Given the description of an element on the screen output the (x, y) to click on. 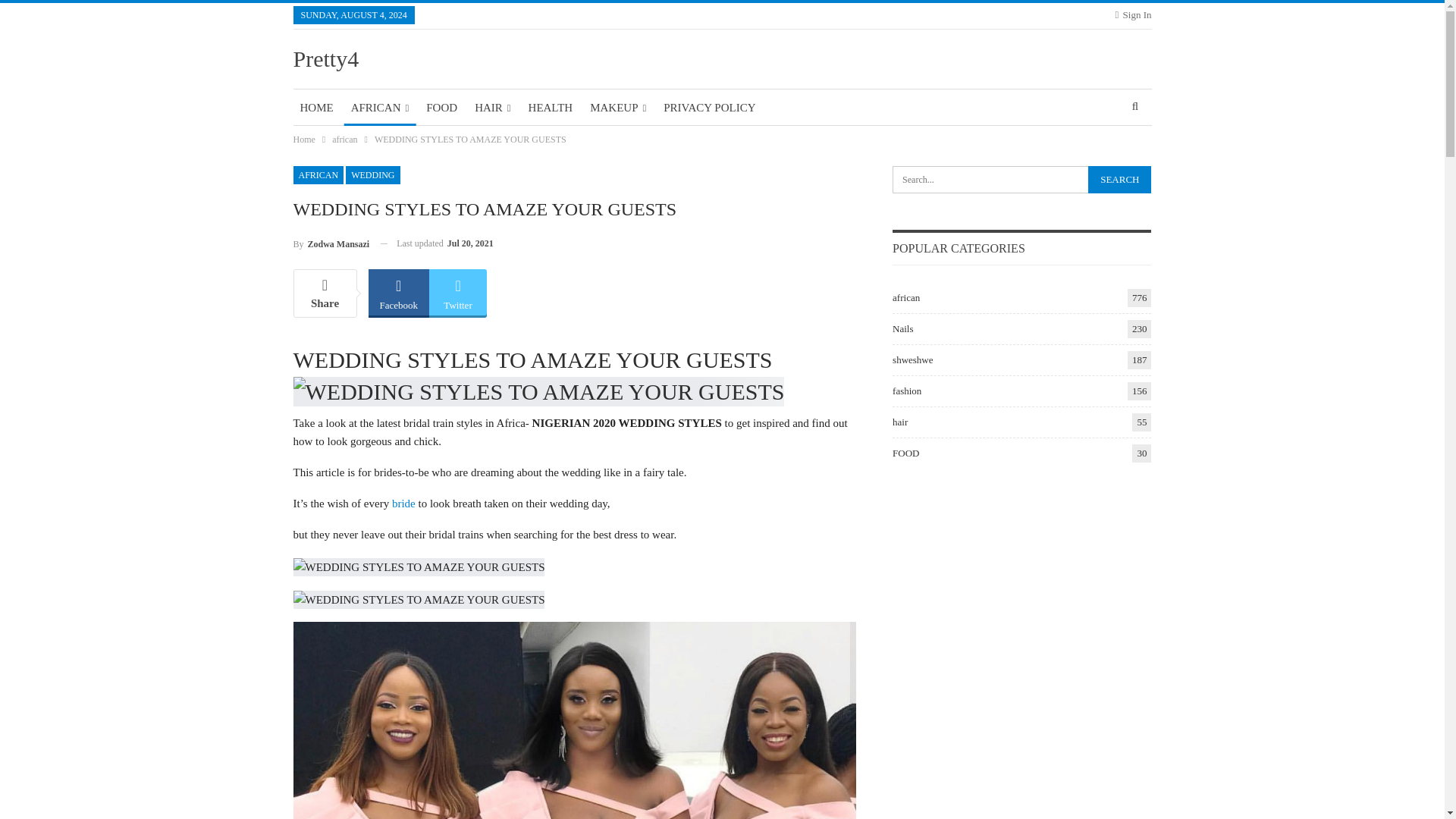
Search (1119, 179)
african (343, 139)
Sign In (1133, 14)
HEALTH (550, 107)
AFRICAN (379, 107)
Browse Author Articles (330, 243)
Home (303, 139)
MAKEUP (617, 107)
PRIVACY POLICY (708, 107)
bride (402, 503)
FOOD (441, 107)
Facebook (398, 292)
HAIR (491, 107)
By Zodwa Mansazi (330, 243)
Search for: (1021, 179)
